Given the description of an element on the screen output the (x, y) to click on. 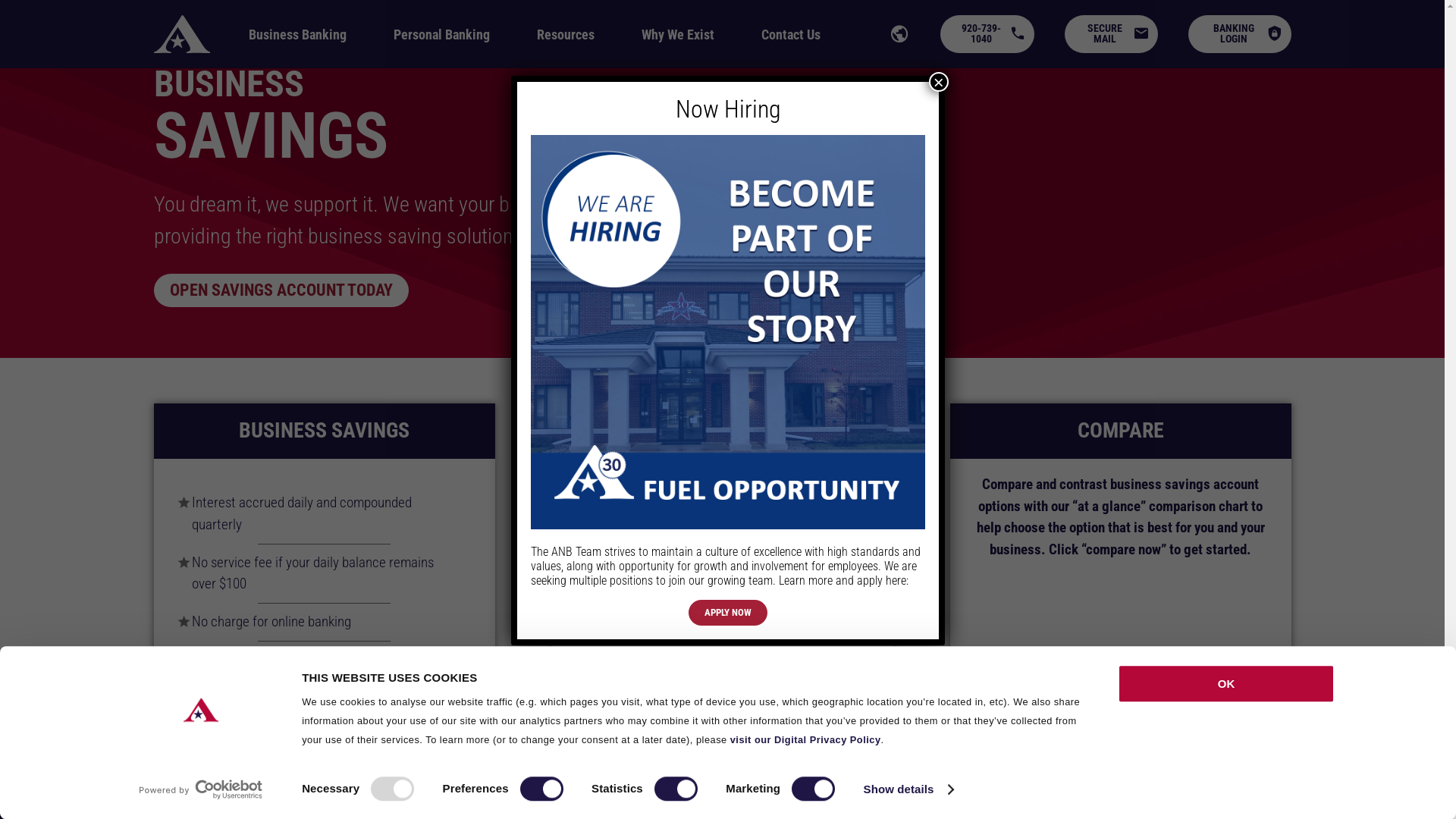
OPEN SAVINGS ACCOUNT TODAY Element type: text (280, 290)
Business Banking Element type: text (297, 34)
OPEN ACCOUNT Element type: text (722, 712)
APPLY NOW Element type: text (727, 612)
OK Element type: text (1225, 683)
Business Savings Element type: text (278, 15)
920-739-1040 Element type: text (987, 34)
Language Element type: hover (899, 33)
Show details Element type: text (908, 789)
Contact Us Element type: text (790, 34)
Resources Element type: text (565, 34)
Personal Banking Element type: text (441, 34)
BANKING LOGIN Element type: text (1239, 34)
SECURE MAIL Element type: text (1110, 34)
Business Banking Element type: text (189, 15)
visit our Digital Privacy Policy Element type: text (805, 739)
COMPARE NOW Element type: text (1120, 712)
OPEN ACCOUNT Element type: text (323, 712)
Why We Exist Element type: text (677, 34)
